Given the description of an element on the screen output the (x, y) to click on. 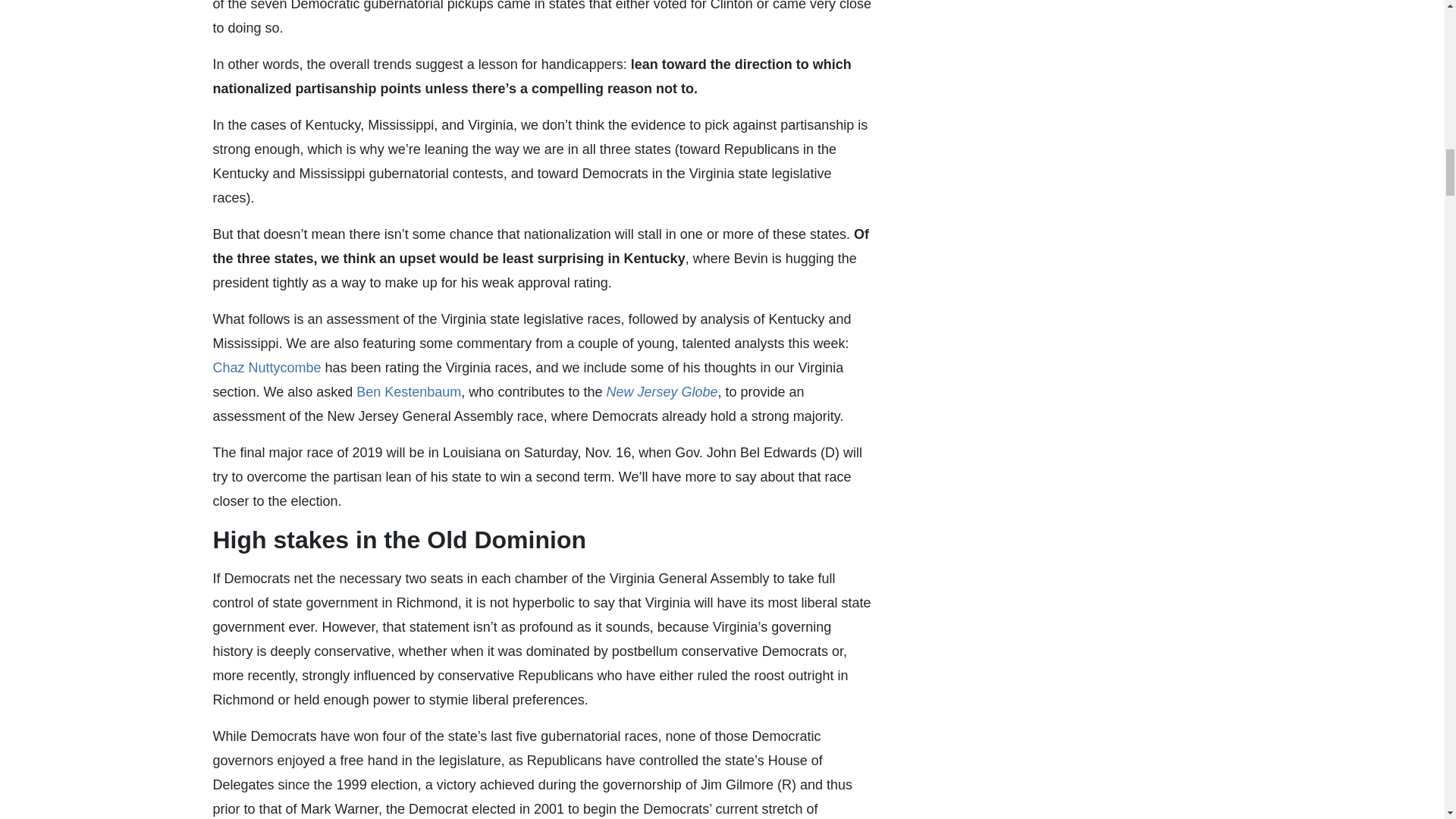
Ben Kestenbaum (408, 391)
New Jersey Globe (661, 391)
Chaz Nuttycombe (266, 367)
